Given the description of an element on the screen output the (x, y) to click on. 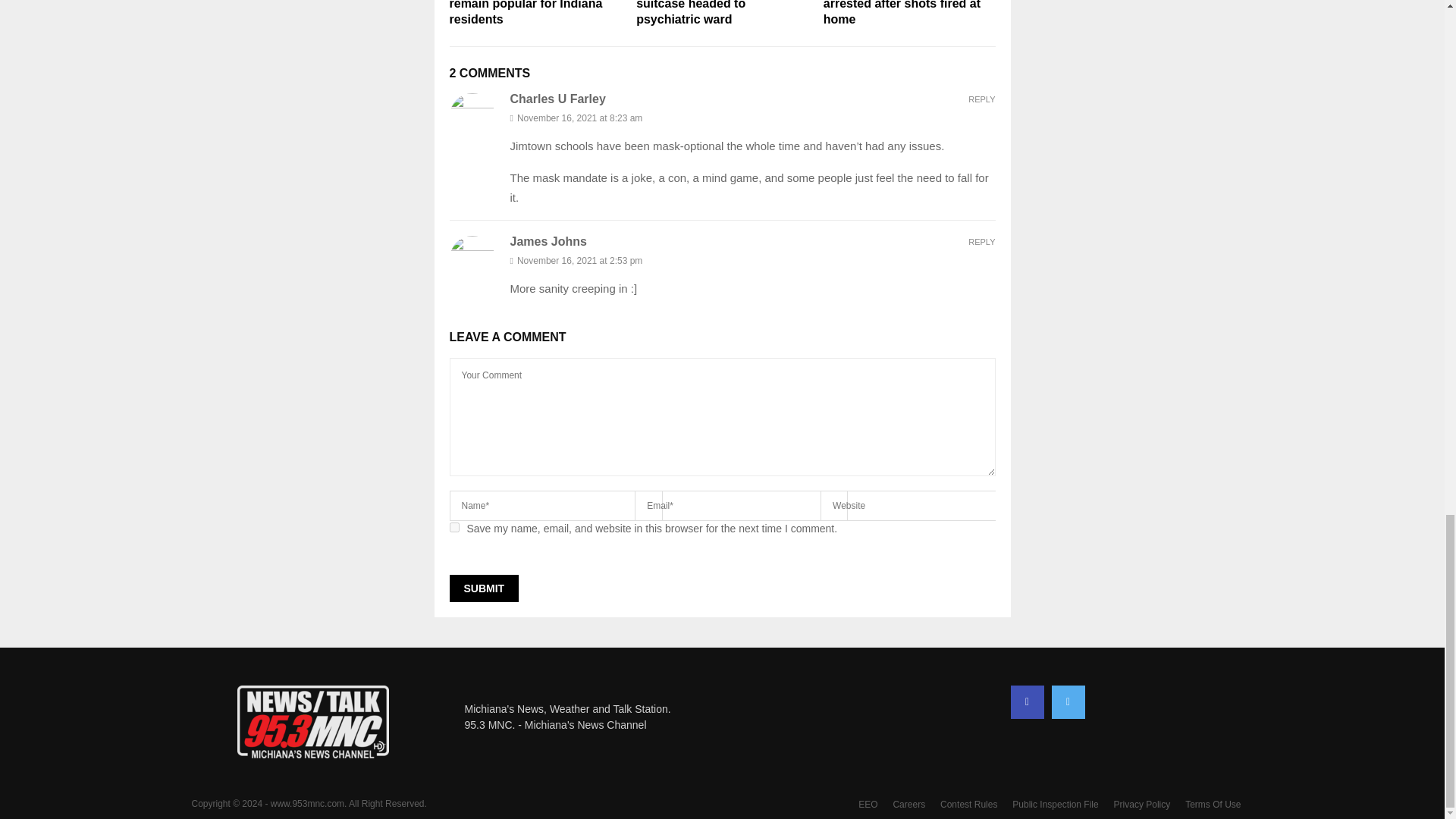
yes (453, 527)
Tuesday, November 16, 2021, 8:23 am (751, 118)
Submit (483, 587)
